Given the description of an element on the screen output the (x, y) to click on. 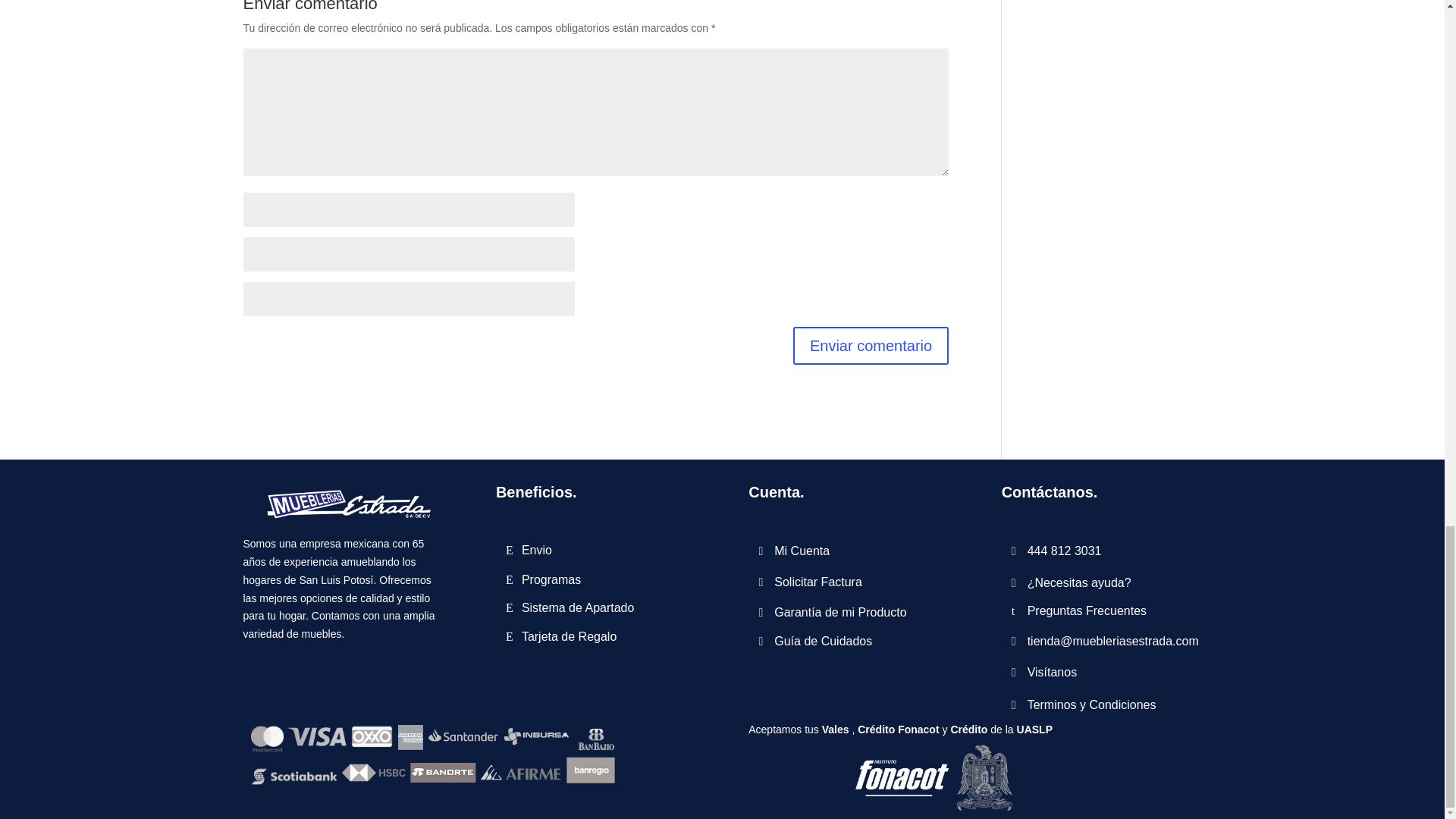
mueblerias estrada logoMesa de trabajo 5 (342, 501)
2 (432, 755)
Enviar comentario (871, 345)
3 (937, 777)
